Given the description of an element on the screen output the (x, y) to click on. 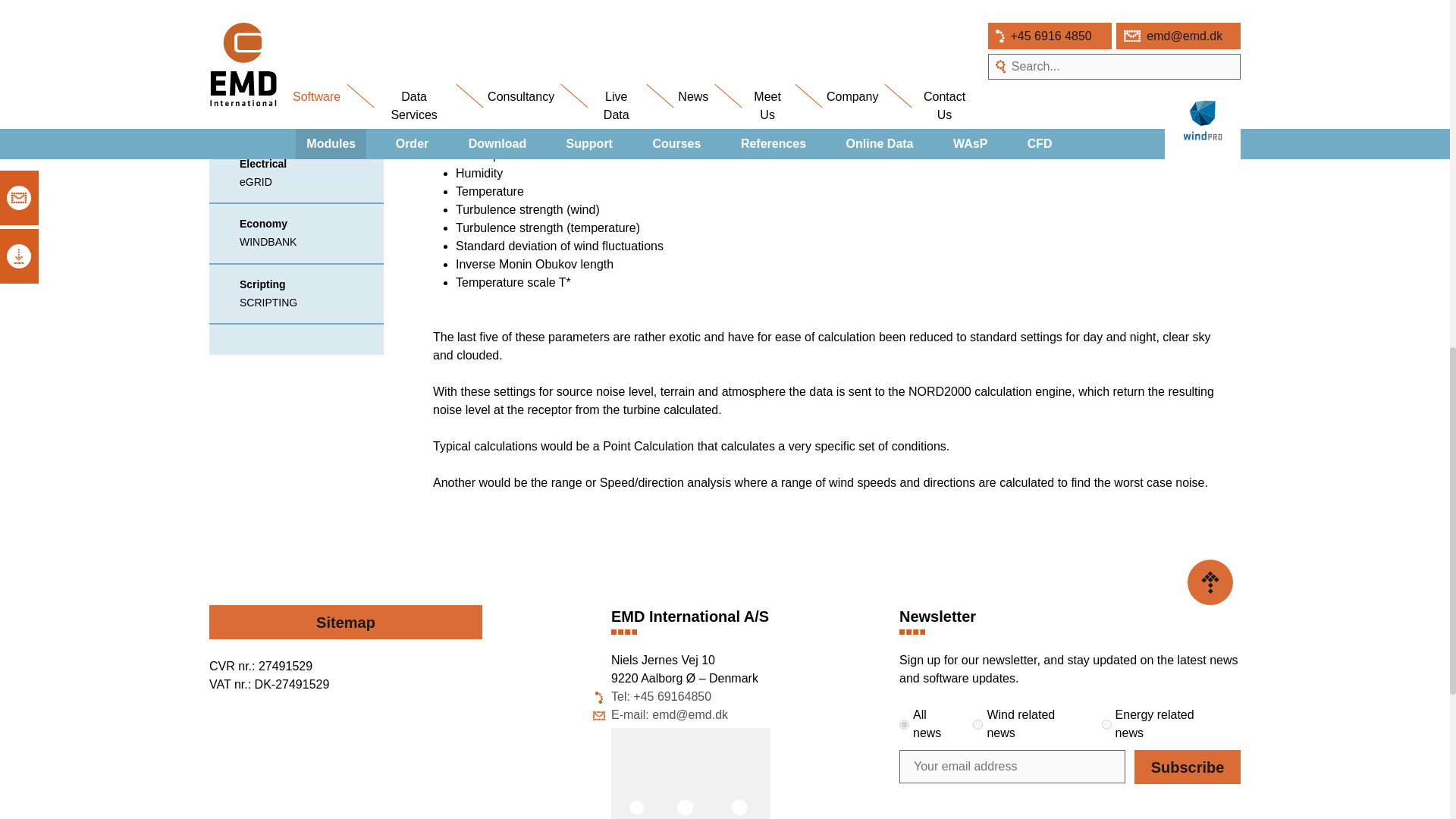
all (903, 724)
wind (977, 724)
energy (1107, 724)
